Given the description of an element on the screen output the (x, y) to click on. 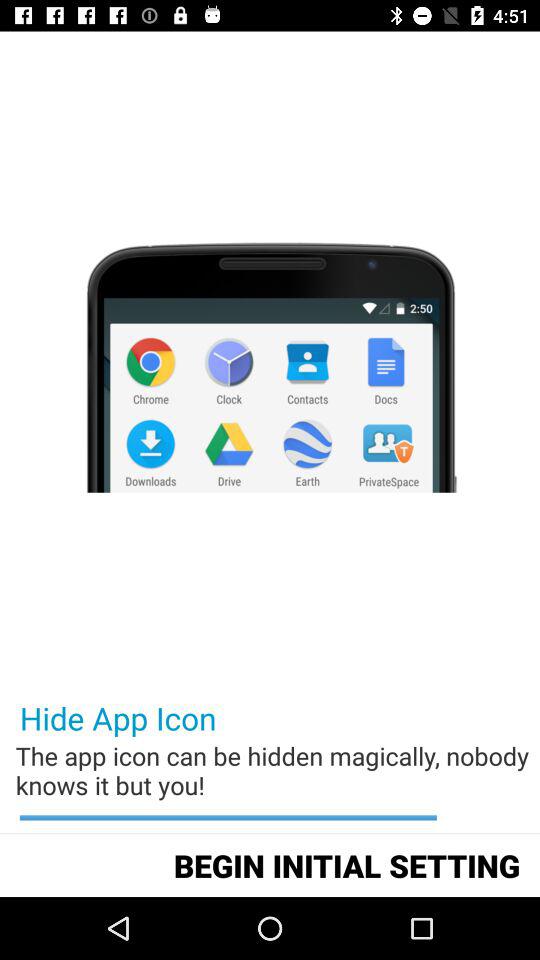
scroll to the begin initial setting (346, 864)
